Given the description of an element on the screen output the (x, y) to click on. 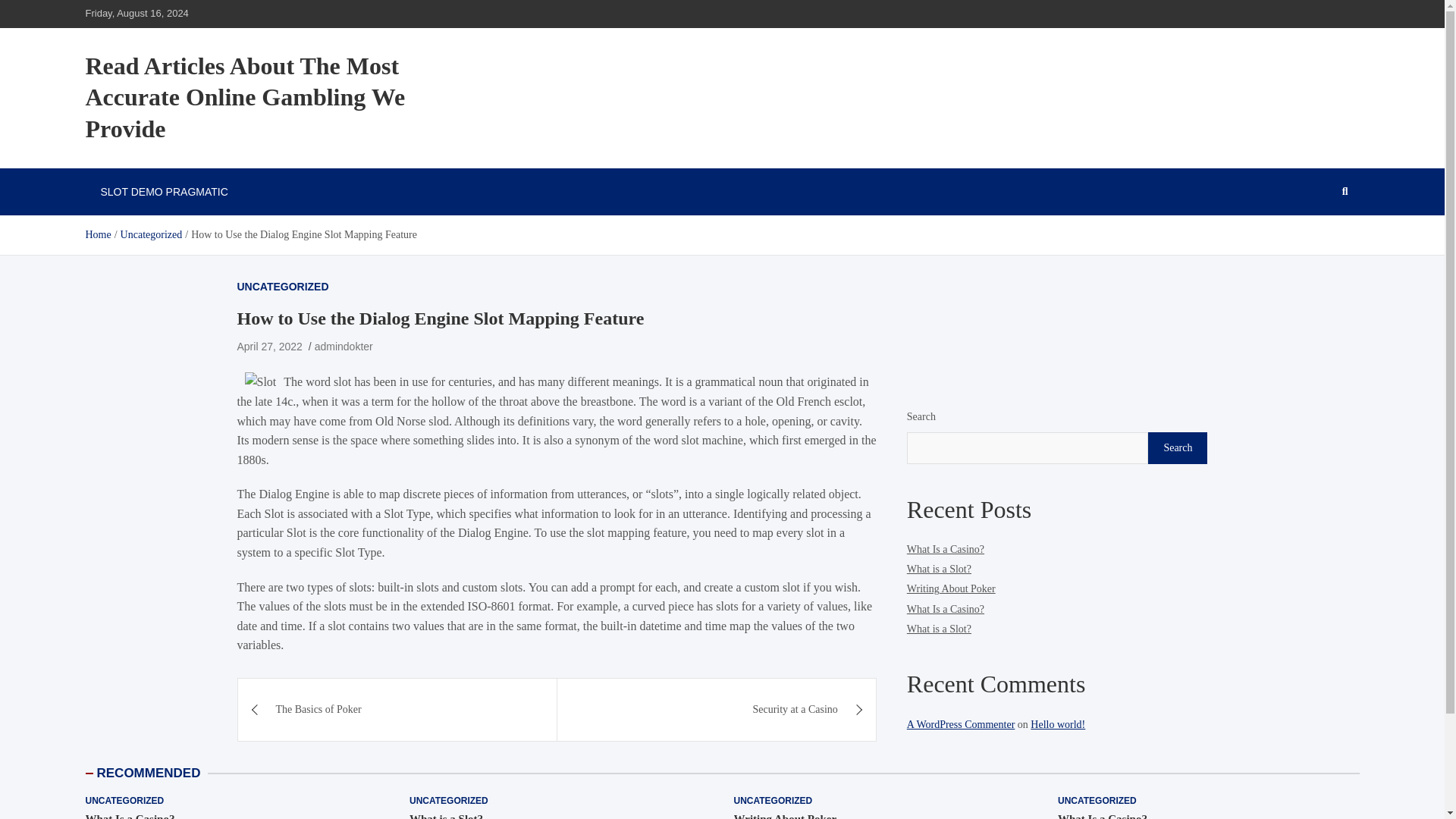
What Is a Casino? (1102, 816)
What Is a Casino? (945, 549)
UNCATEGORIZED (282, 286)
Uncategorized (151, 234)
UNCATEGORIZED (123, 800)
April 27, 2022 (268, 346)
Writing About Poker (785, 816)
What is a Slot? (939, 628)
Writing About Poker (951, 588)
UNCATEGORIZED (772, 800)
